Given the description of an element on the screen output the (x, y) to click on. 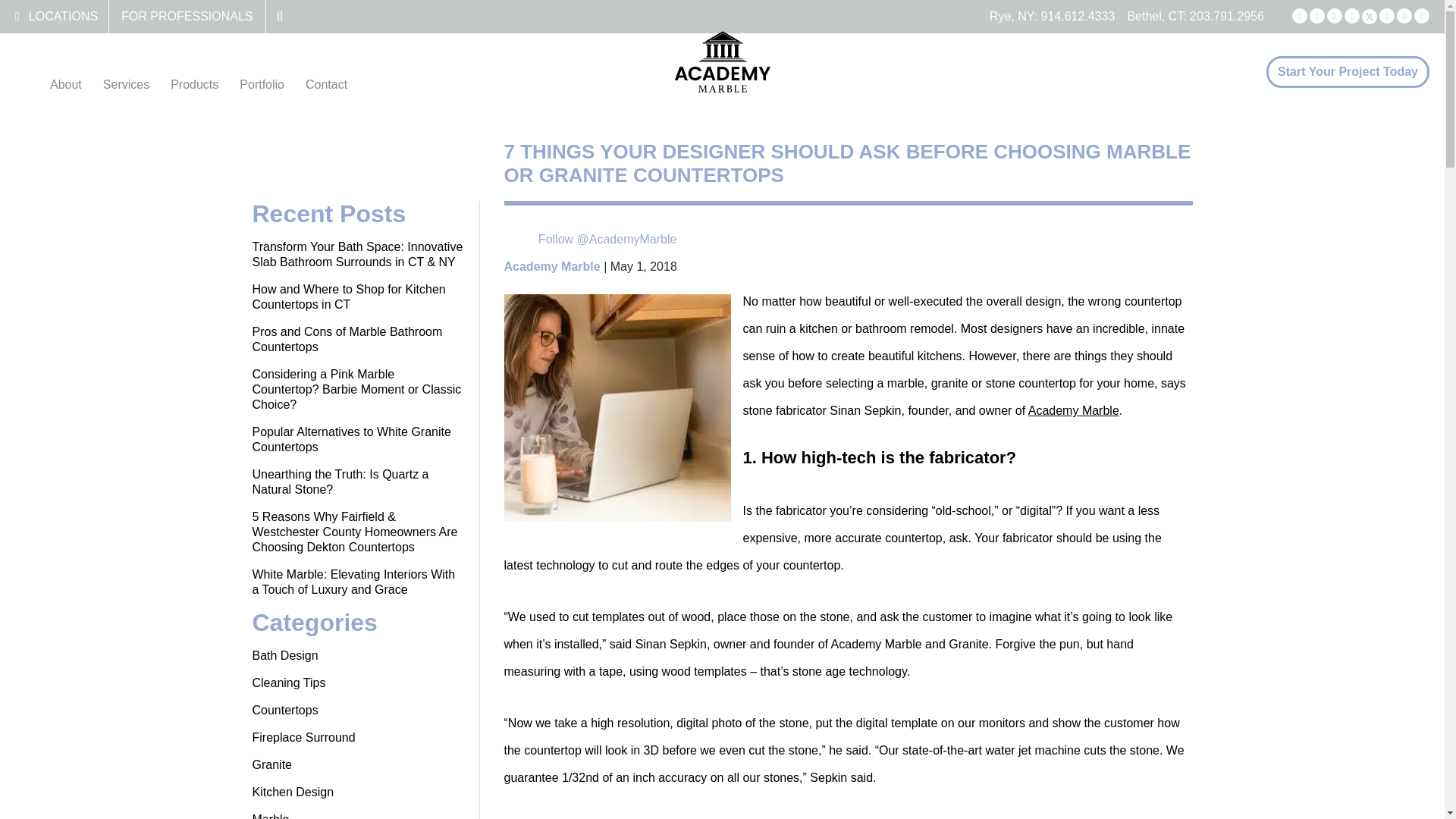
LOCATIONS (63, 15)
FOR PROFESSIONALS (185, 15)
203.791.2956 (1226, 15)
914.612.4333 (1078, 15)
